Given the description of an element on the screen output the (x, y) to click on. 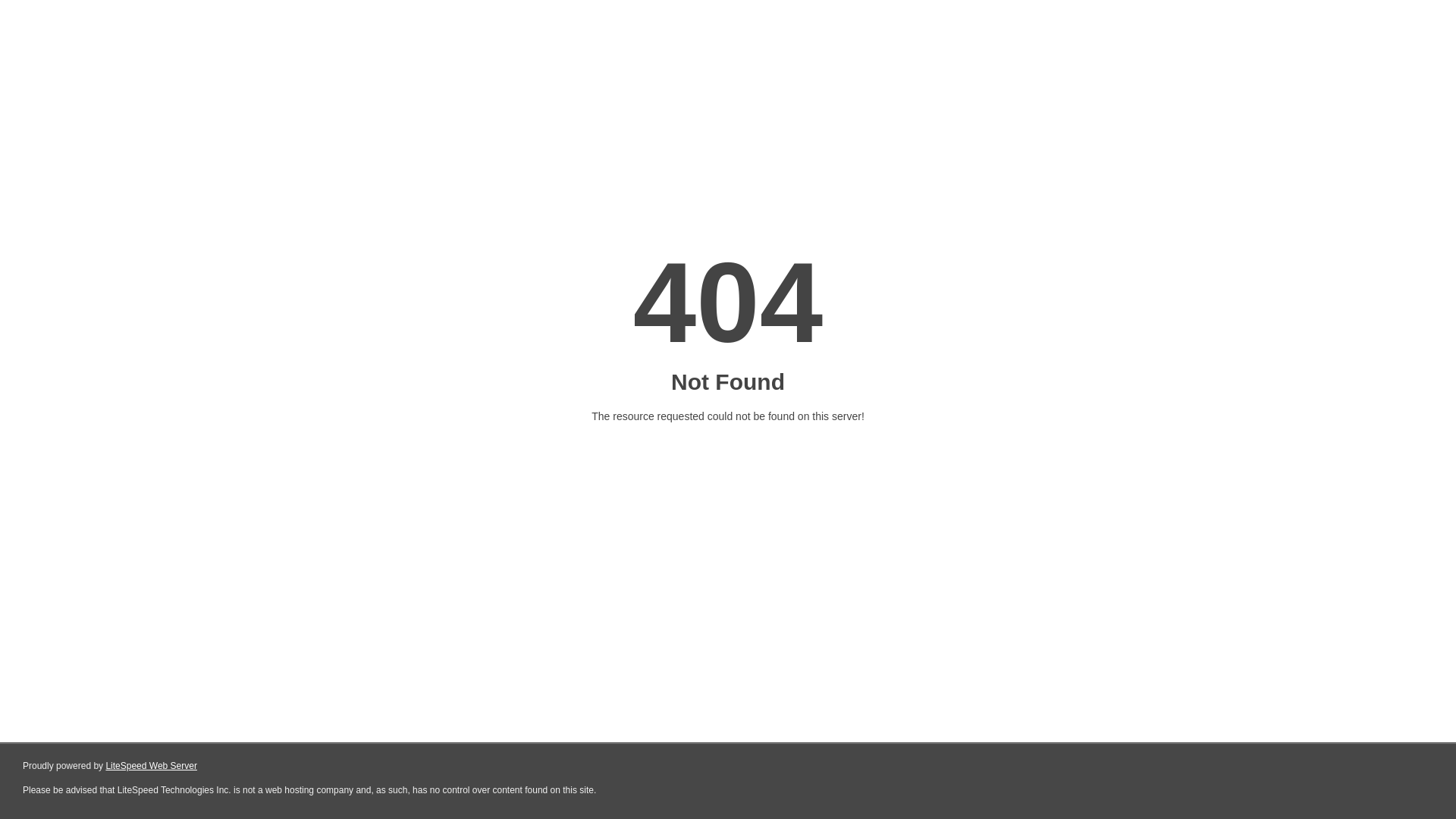
LiteSpeed Web Server Element type: text (151, 765)
